Given the description of an element on the screen output the (x, y) to click on. 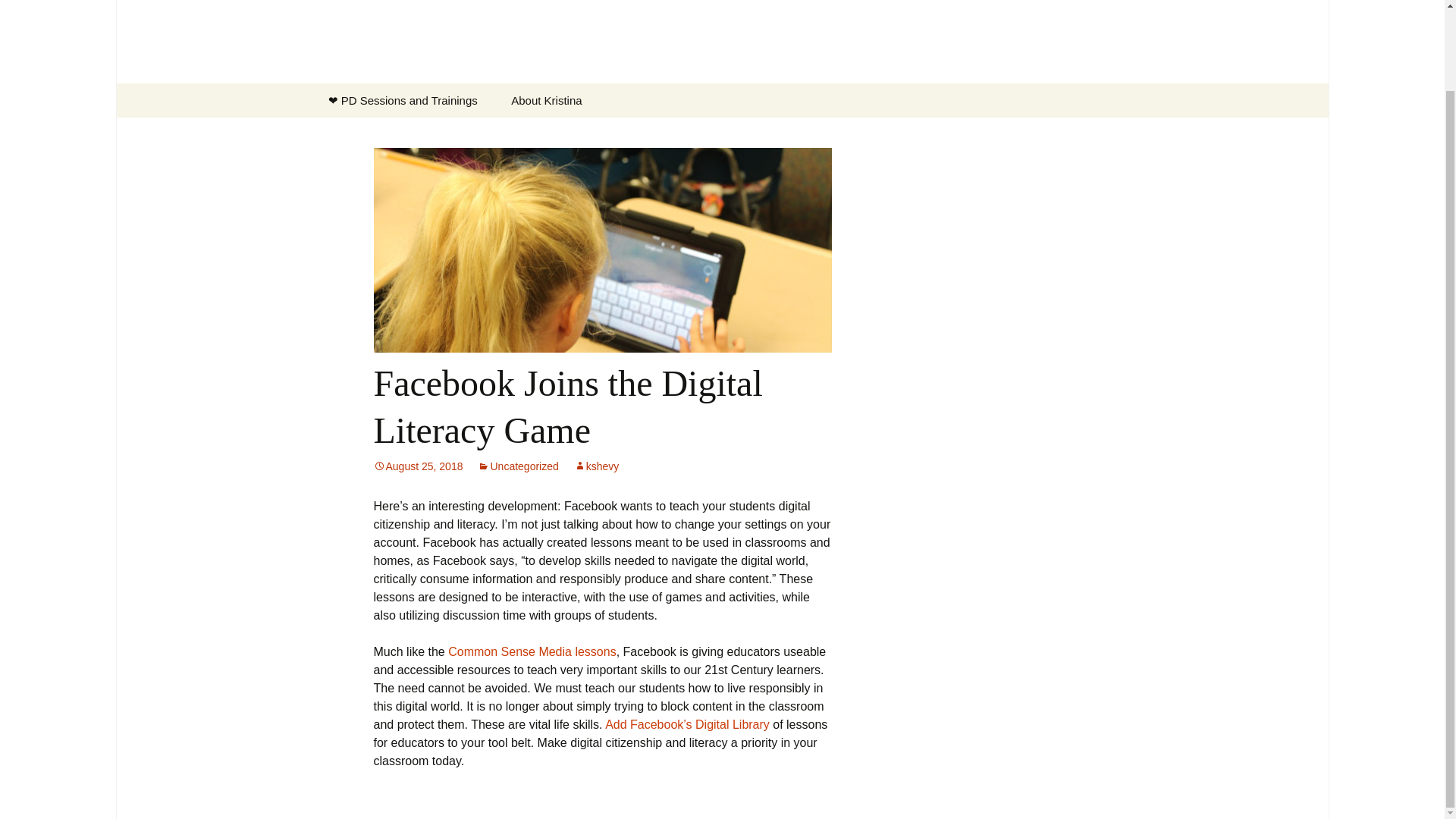
About Kristina (546, 100)
August 25, 2018 (417, 466)
View all posts by kshevy (596, 466)
Common Sense Media lessons (531, 651)
Uncategorized (517, 466)
kshevy (596, 466)
Permalink to Facebook Joins the Digital Literacy Game (417, 466)
